Given the description of an element on the screen output the (x, y) to click on. 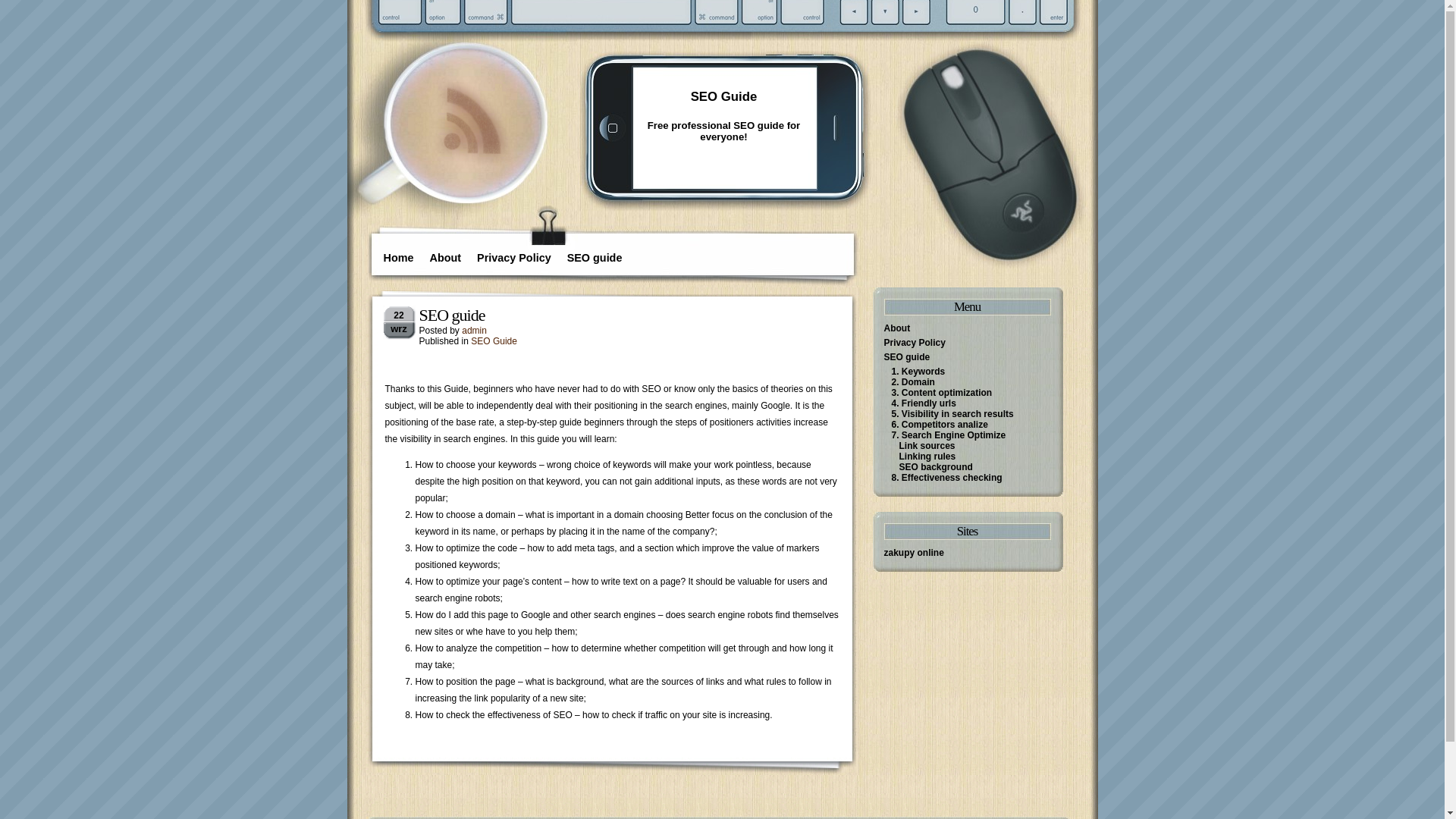
Add this blog to any reader Element type: hover (471, 155)
Privacy Policy Element type: text (513, 259)
1. Keywords Element type: text (918, 371)
8. Effectiveness checking Element type: text (946, 477)
3. Content optimization Element type: text (941, 392)
Linking rules Element type: text (927, 456)
7. Search Engine Optimize Element type: text (948, 434)
SEO Guide Element type: text (493, 340)
Home Element type: text (398, 259)
Privacy Policy Element type: text (914, 342)
SEO guide Element type: text (594, 259)
SEO guide Element type: text (907, 356)
SEO guide Element type: text (451, 314)
About Element type: text (445, 259)
zakupy online Element type: text (914, 552)
Link sources Element type: text (927, 445)
About Element type: text (897, 328)
5. Visibility in search results Element type: text (952, 413)
6. Competitors analize Element type: text (939, 424)
SEO background Element type: text (935, 466)
admin Element type: text (473, 330)
4. Friendly urls Element type: text (923, 403)
SEO Guide Element type: text (723, 96)
2. Domain Element type: text (913, 381)
